Given the description of an element on the screen output the (x, y) to click on. 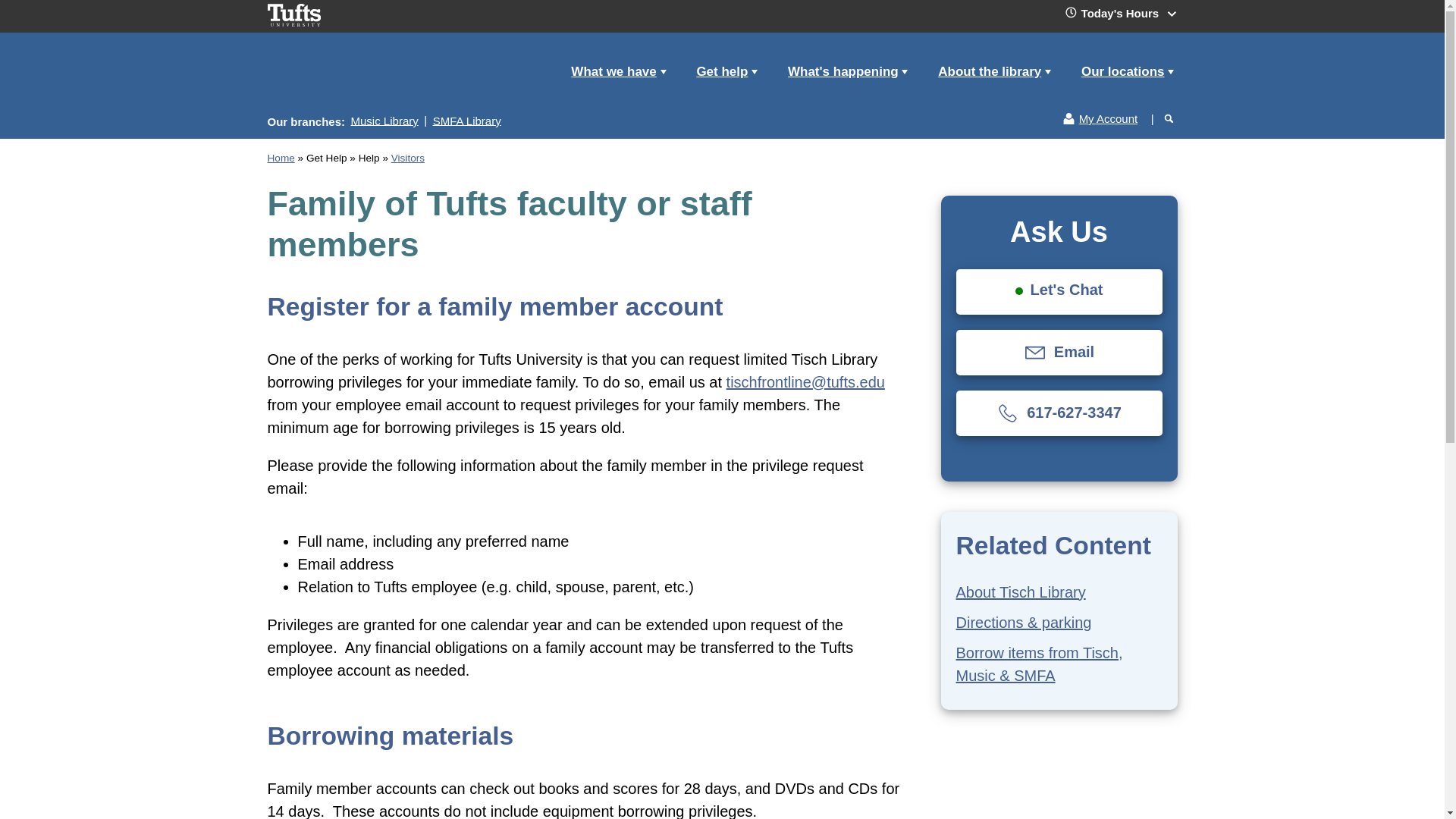
What we have (617, 71)
Home (352, 84)
Search (1138, 112)
